Given the description of an element on the screen output the (x, y) to click on. 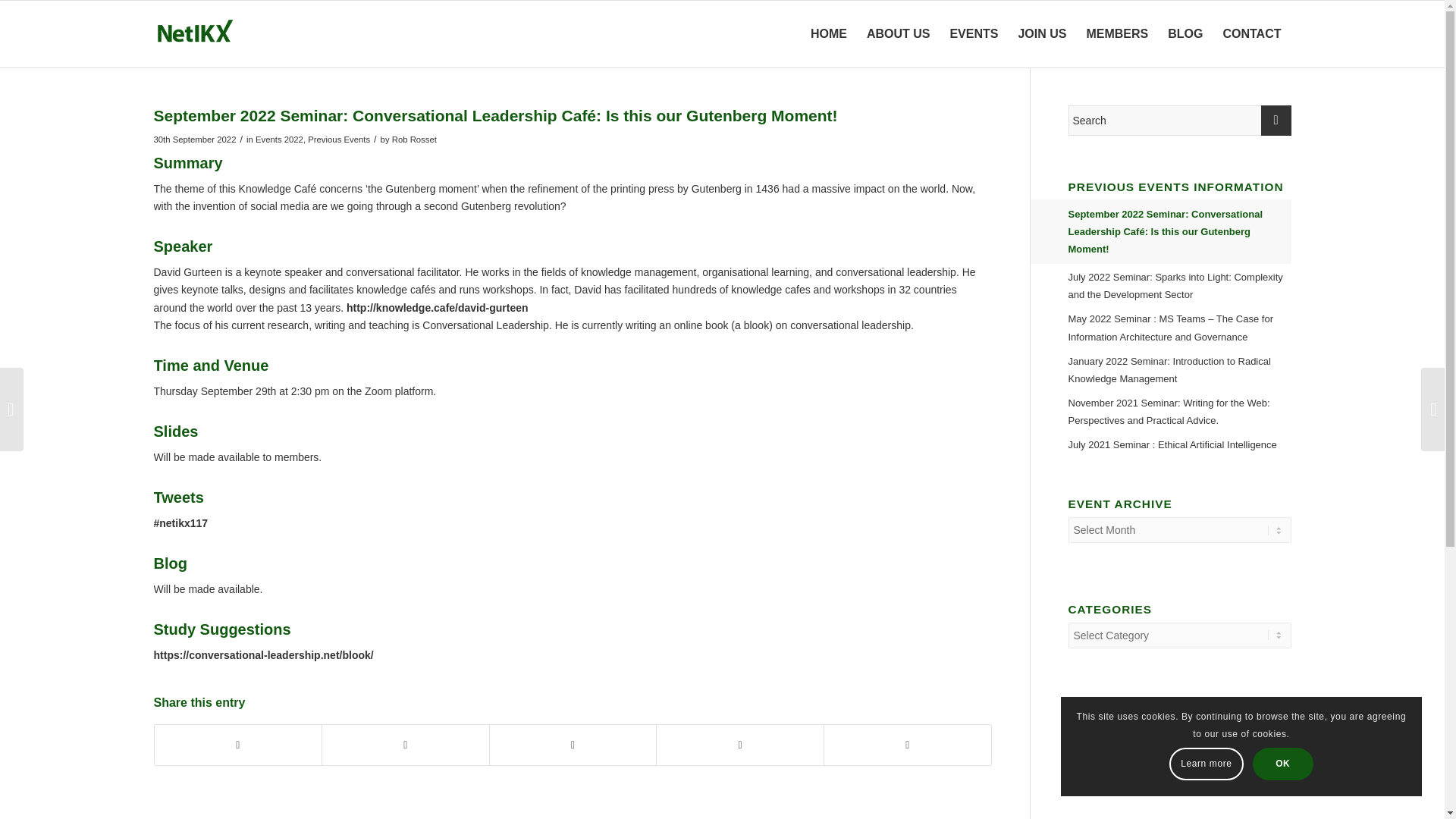
July 2021 Seminar : Ethical Artificial Intelligence (1178, 445)
Rob Rosset (413, 139)
Previous Events (338, 139)
Who we are (898, 33)
NetIKX (225, 33)
JOIN US (1041, 33)
MEMBERS (1116, 33)
CONTACT (1251, 33)
